Given the description of an element on the screen output the (x, y) to click on. 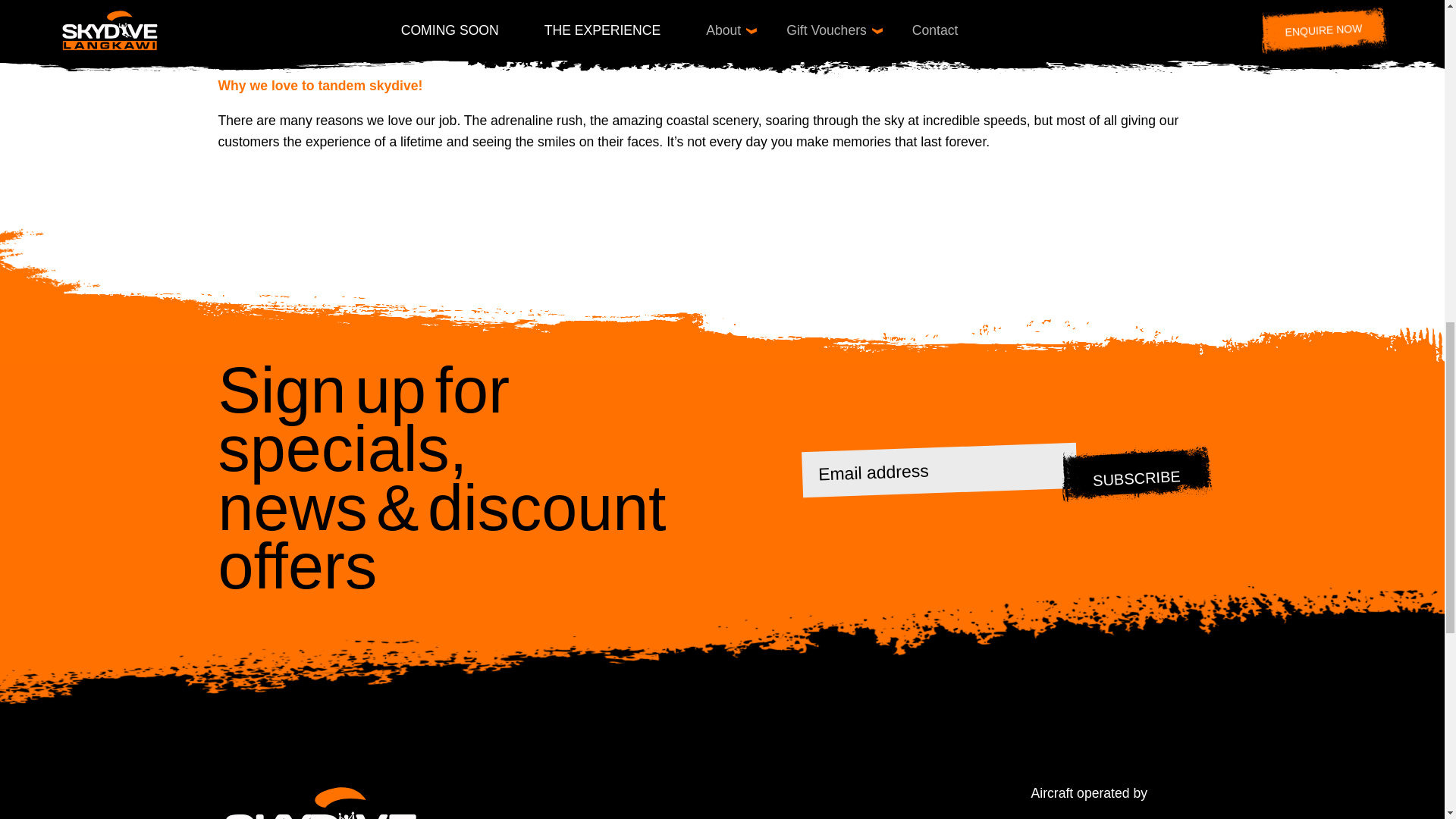
Why we love to tandem skydive! (320, 85)
SUBSCRIBE (1134, 474)
Aircraft operated by (1125, 800)
